Given the description of an element on the screen output the (x, y) to click on. 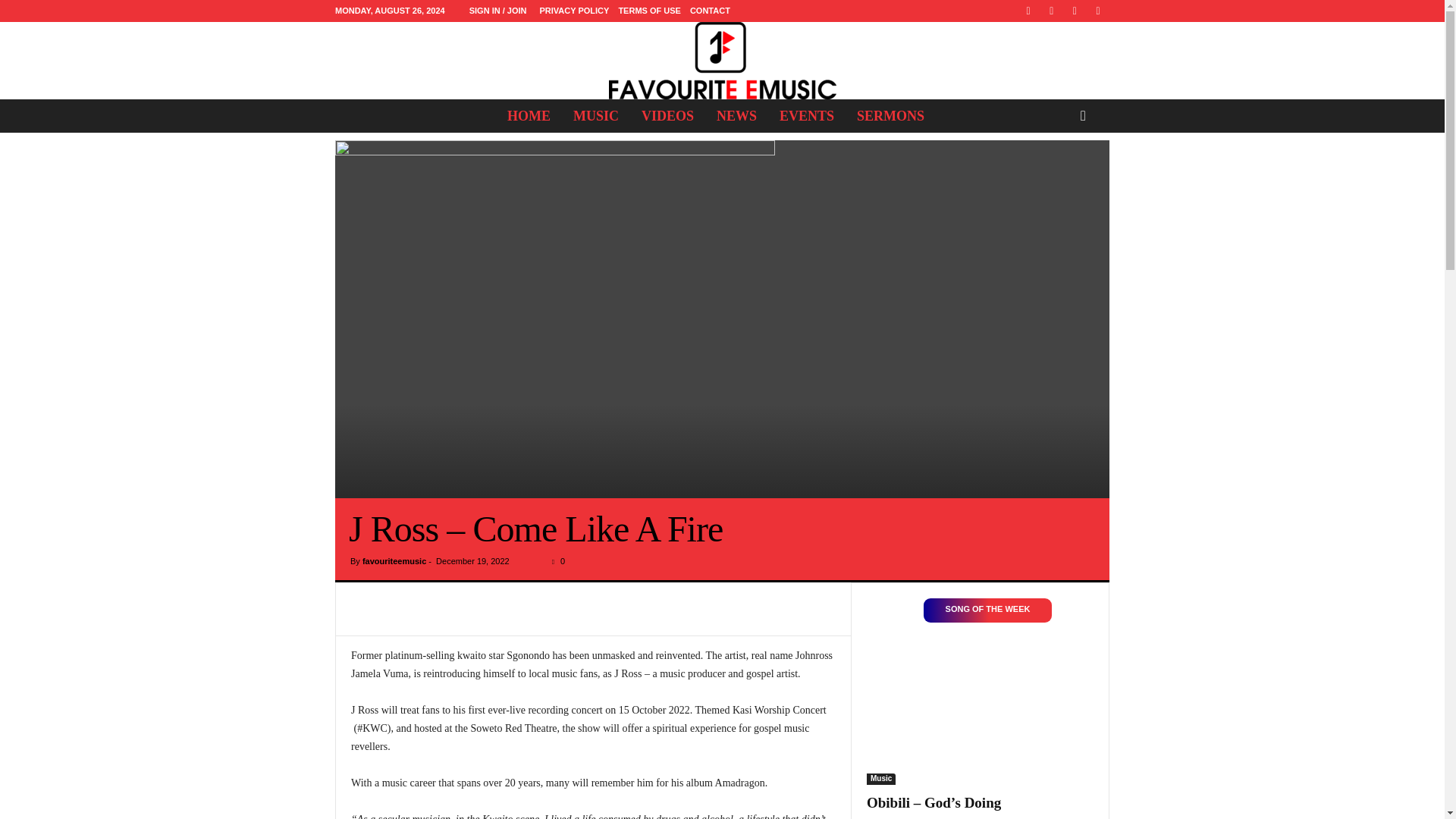
NEWS (736, 115)
PRIVACY POLICY (573, 10)
HOME (529, 115)
MUSIC (596, 115)
VIDEOS (667, 115)
EVENTS (806, 115)
TERMS OF USE (649, 10)
CONTACT (710, 10)
